Given the description of an element on the screen output the (x, y) to click on. 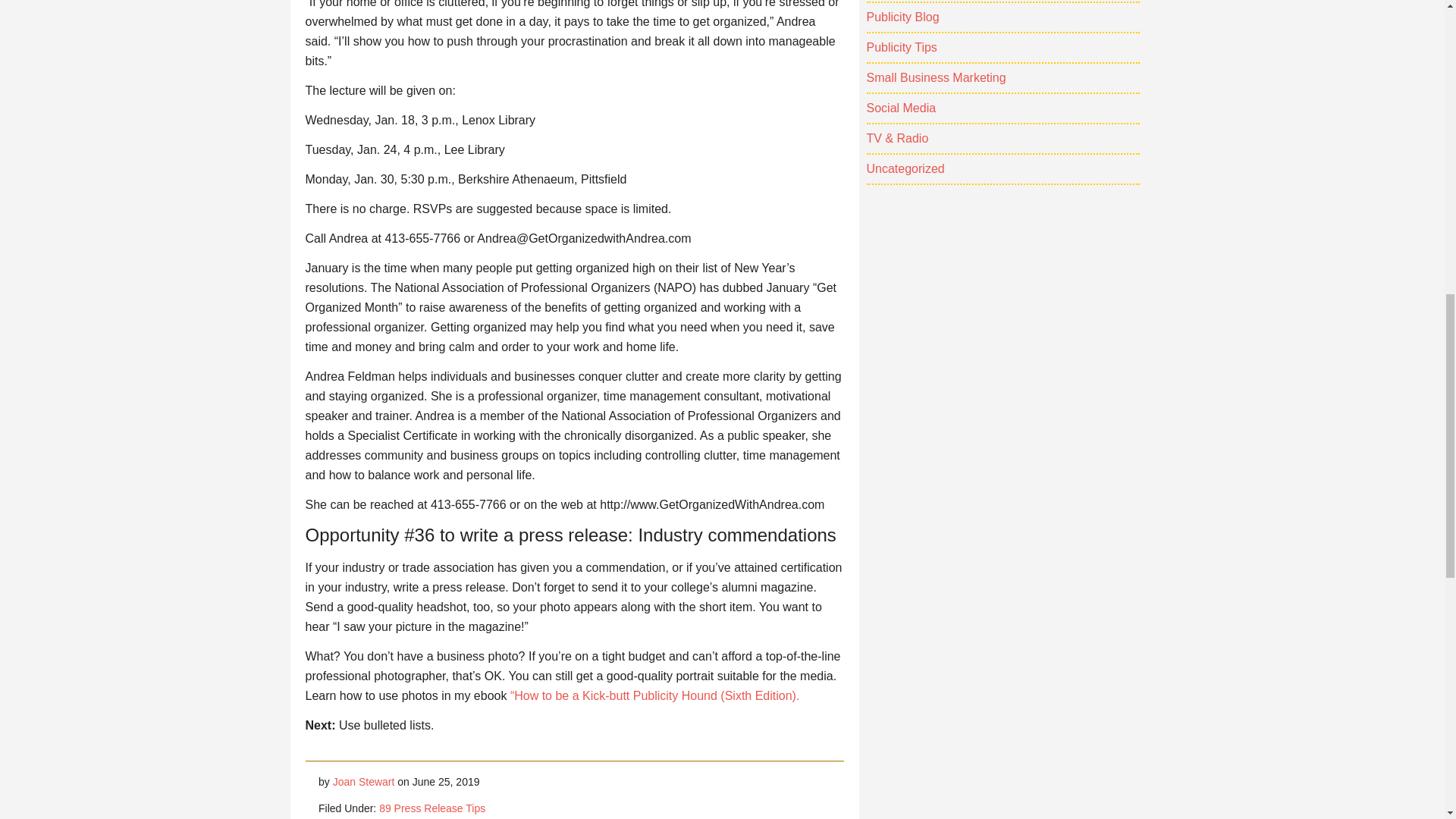
Publicity Tips (901, 47)
Small Business Marketing (936, 77)
89 Press Release Tips (431, 808)
Social Media (901, 107)
Publicity Blog (902, 16)
Joan Stewart (363, 781)
Uncategorized (904, 168)
